Given the description of an element on the screen output the (x, y) to click on. 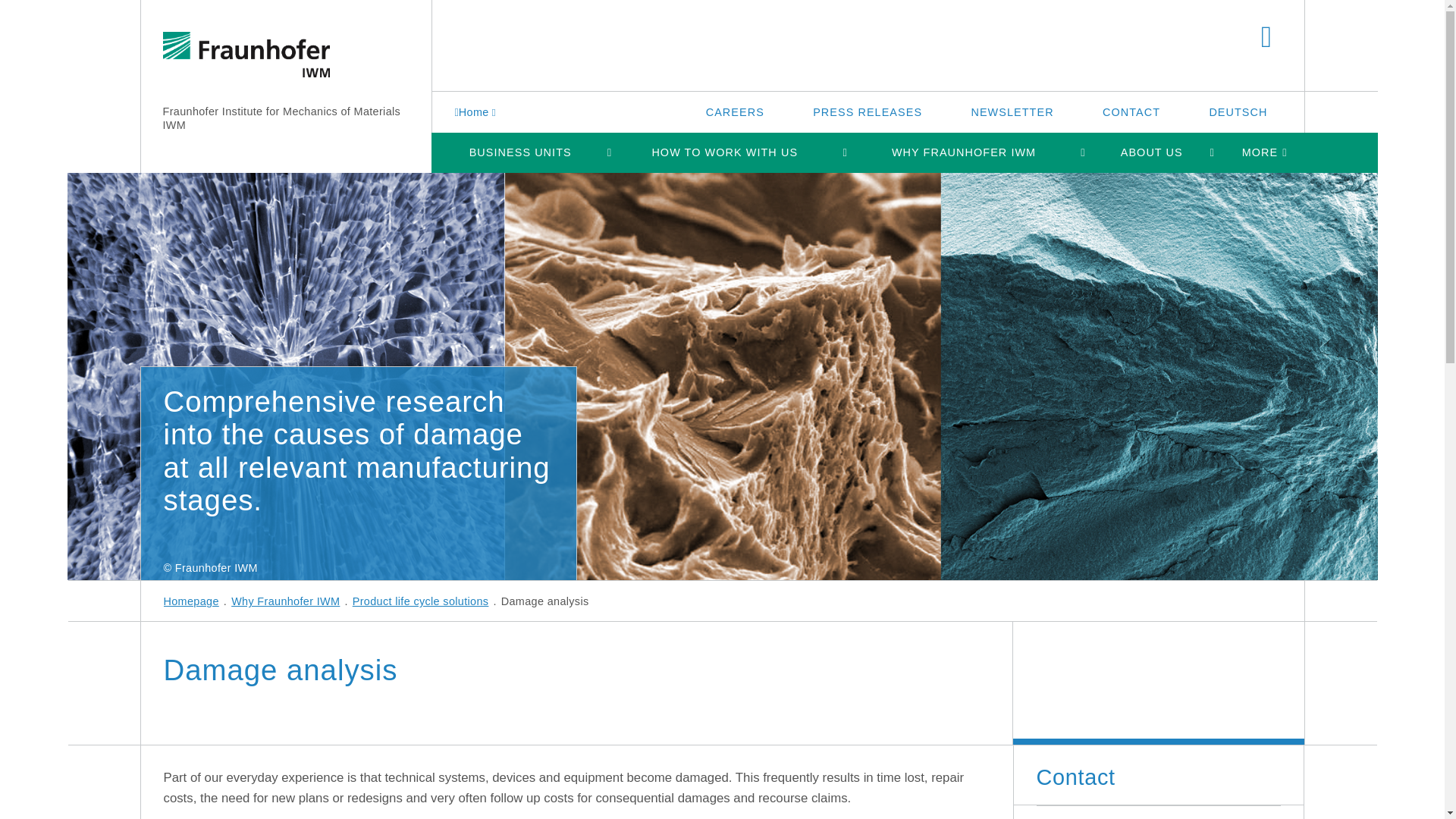
Fraunhofer Institute for Mechanics of Materials IWM (280, 118)
BUSINESS UNITS (519, 151)
DEUTSCH (1238, 111)
NEWSLETTER (1011, 111)
SEARCH (1266, 37)
CAREERS (734, 111)
CONTACT (1131, 111)
PRESS RELEASES (867, 111)
Home (477, 111)
